Given the description of an element on the screen output the (x, y) to click on. 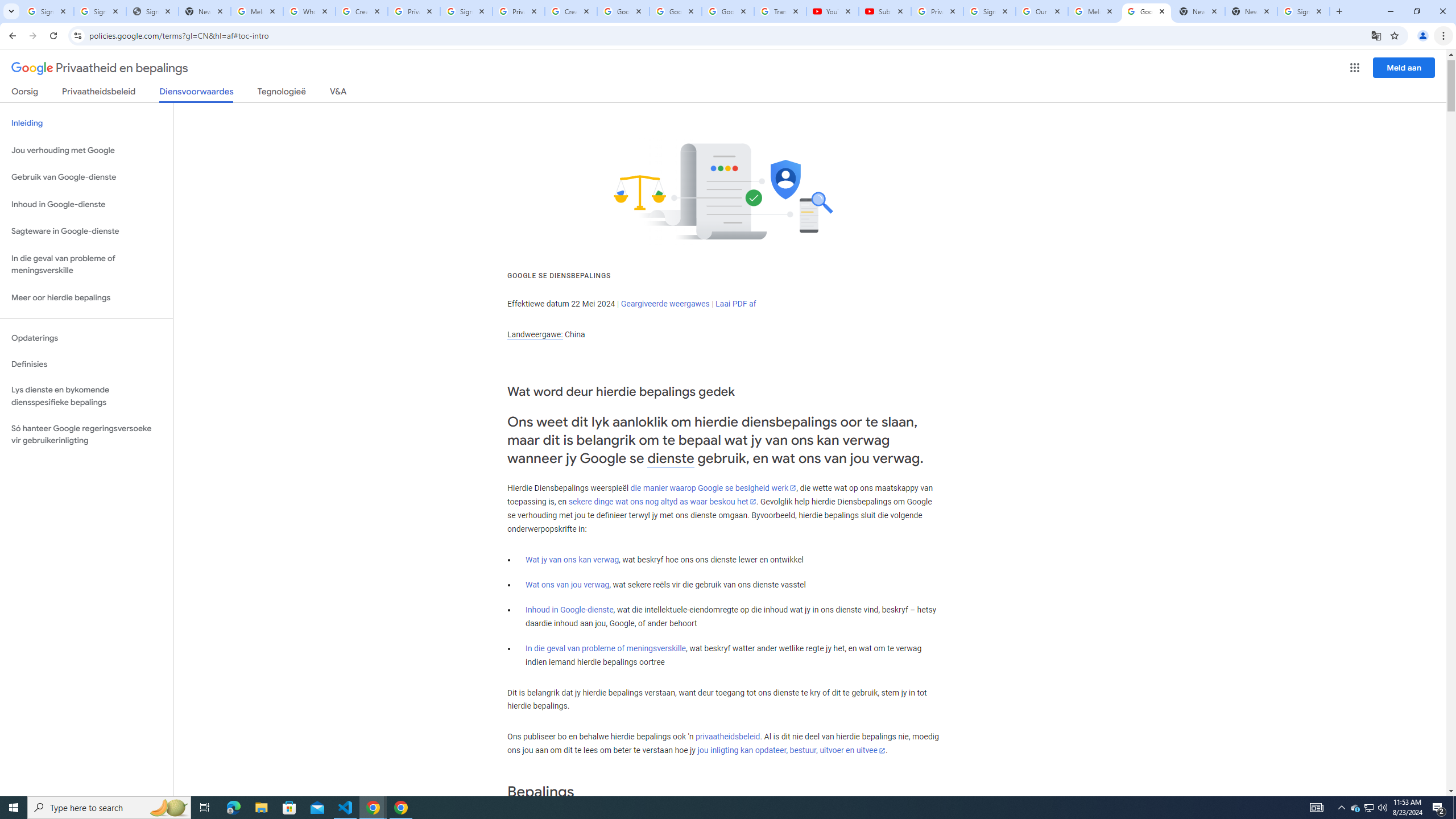
Rules (590, 72)
Labels... (132, 92)
Find Recipient... (758, 91)
Update Labels (604, 112)
Insert Merge Field (526, 77)
Preview Results (684, 92)
